Given the description of an element on the screen output the (x, y) to click on. 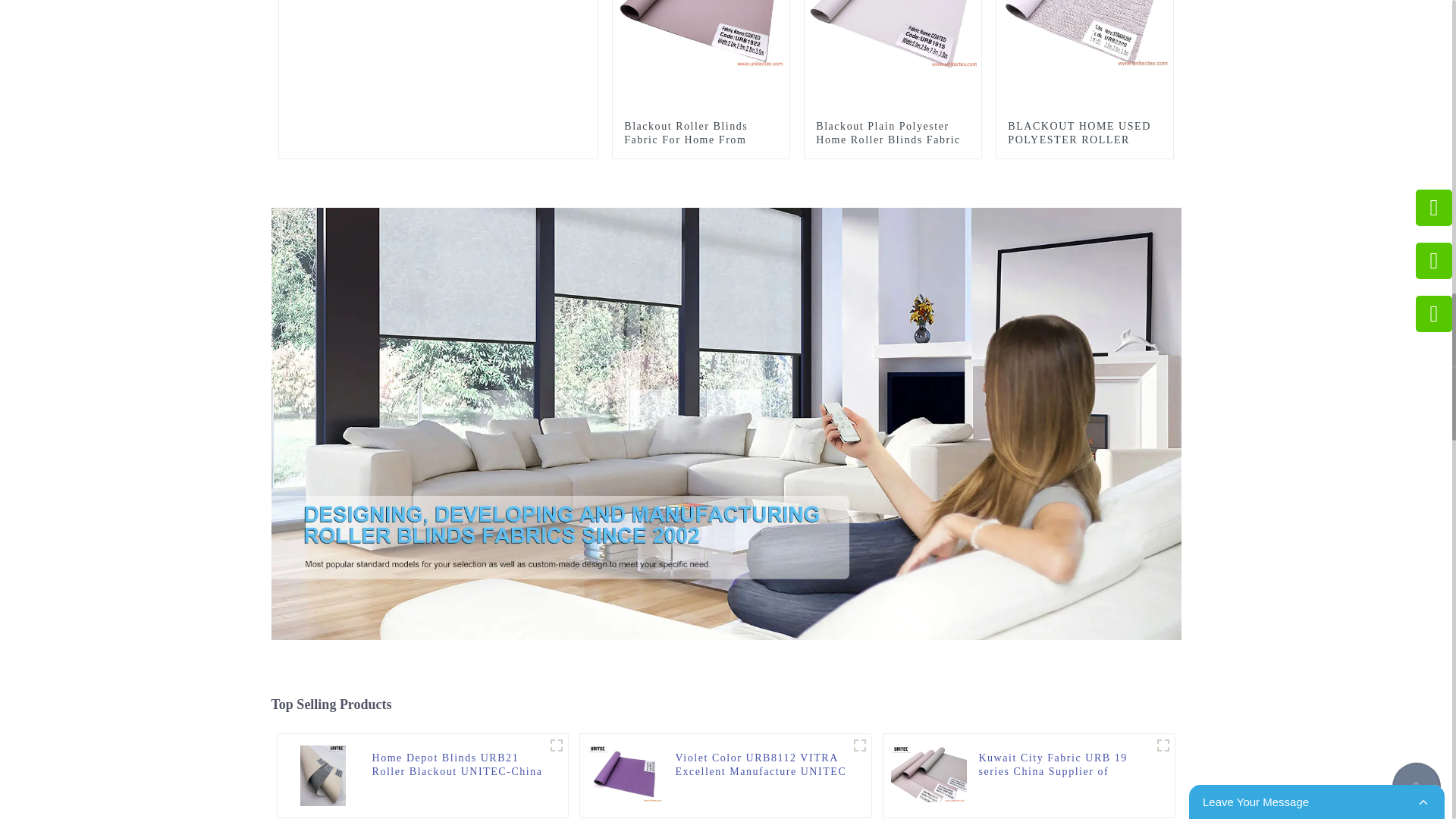
Blackout Roller Blinds Fabric For Home From Direct Factory (700, 2)
